Given the description of an element on the screen output the (x, y) to click on. 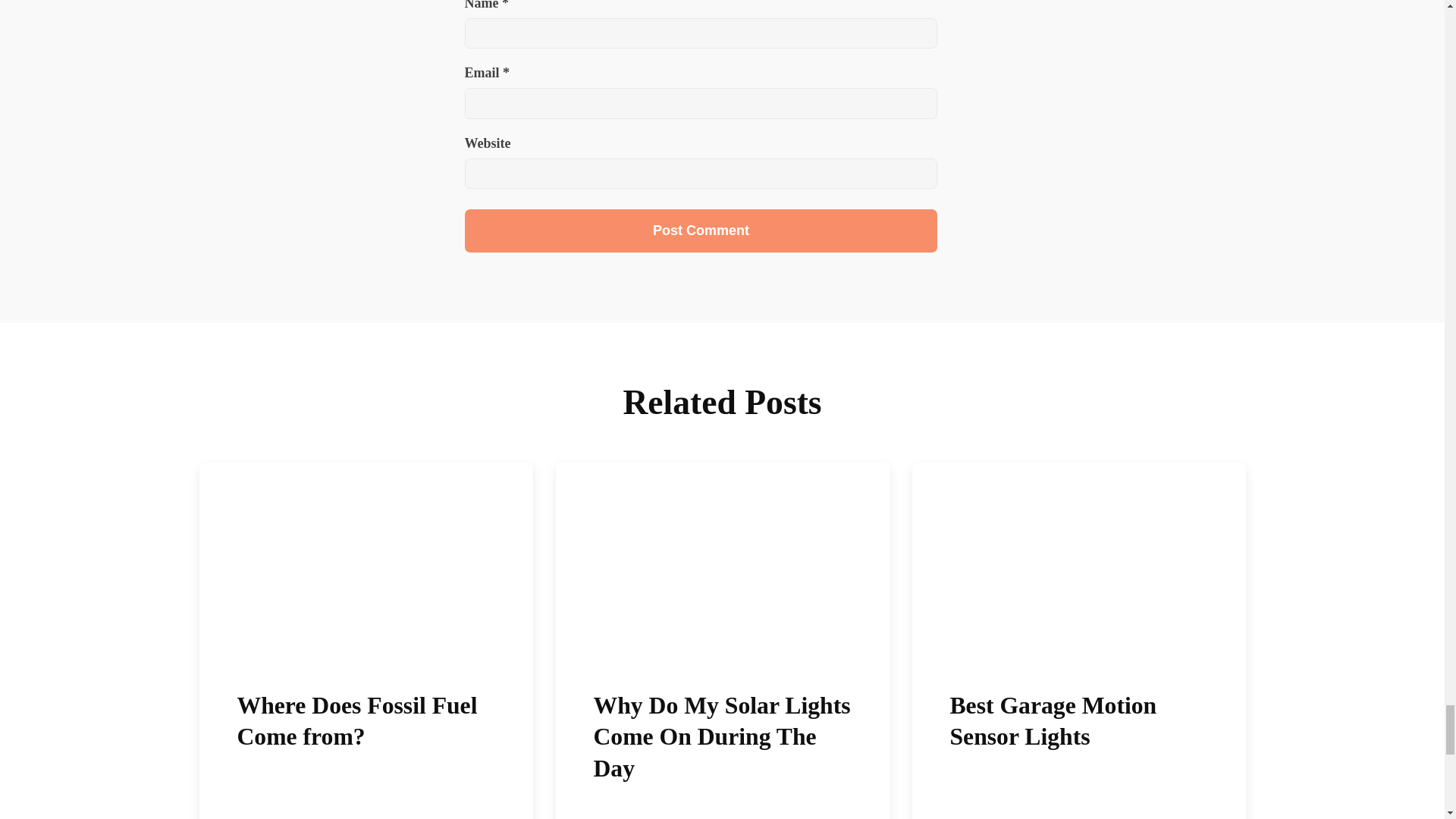
Best Garage Motion Sensor Lights (1077, 640)
Post Comment (700, 230)
Where Does Fossil Fuel Come from? (365, 640)
Post Comment (700, 230)
Why Do My Solar Lights Come On During The Day (721, 640)
